Given the description of an element on the screen output the (x, y) to click on. 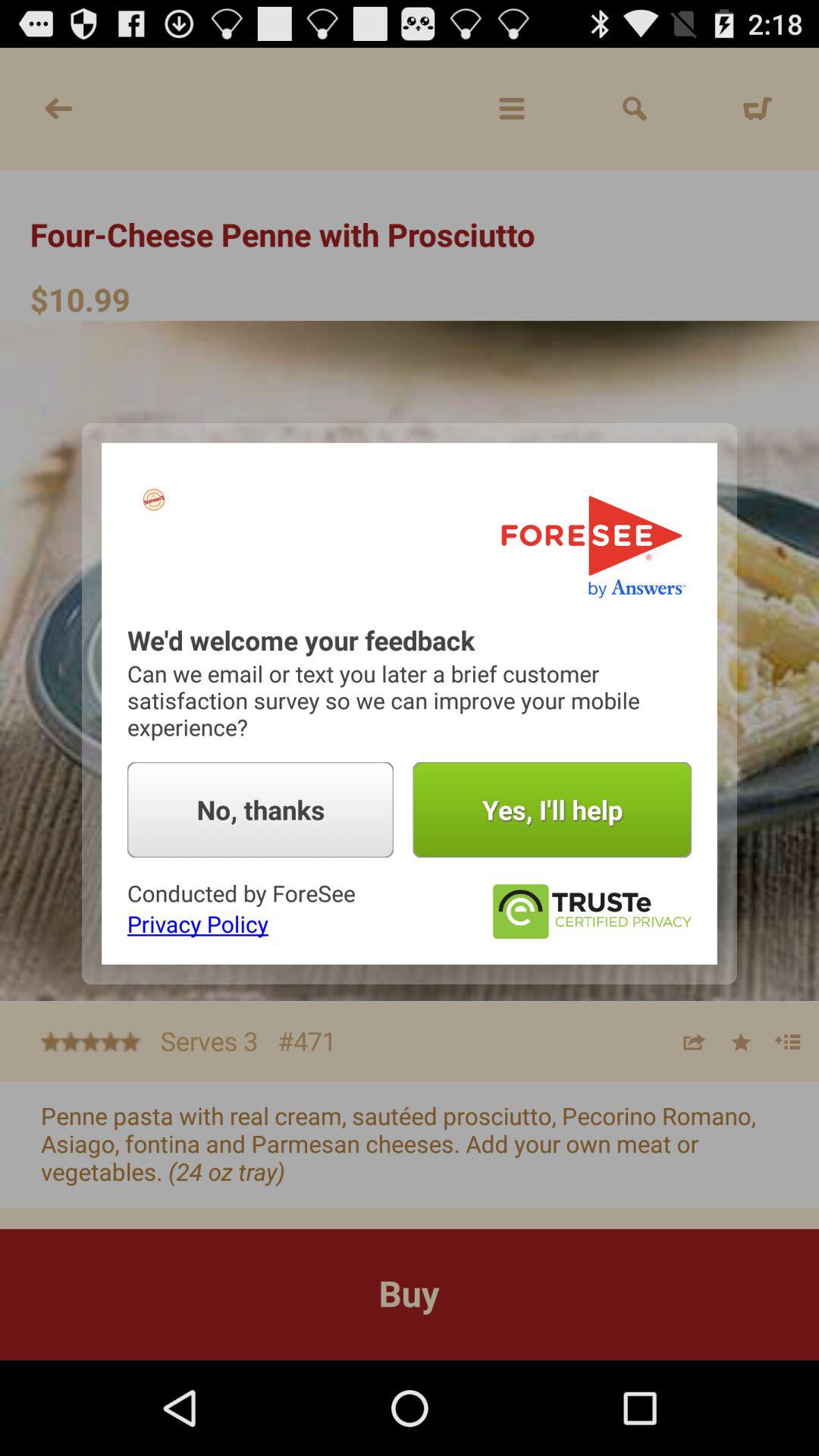
open app to the right of the conducted by foresee (591, 911)
